Given the description of an element on the screen output the (x, y) to click on. 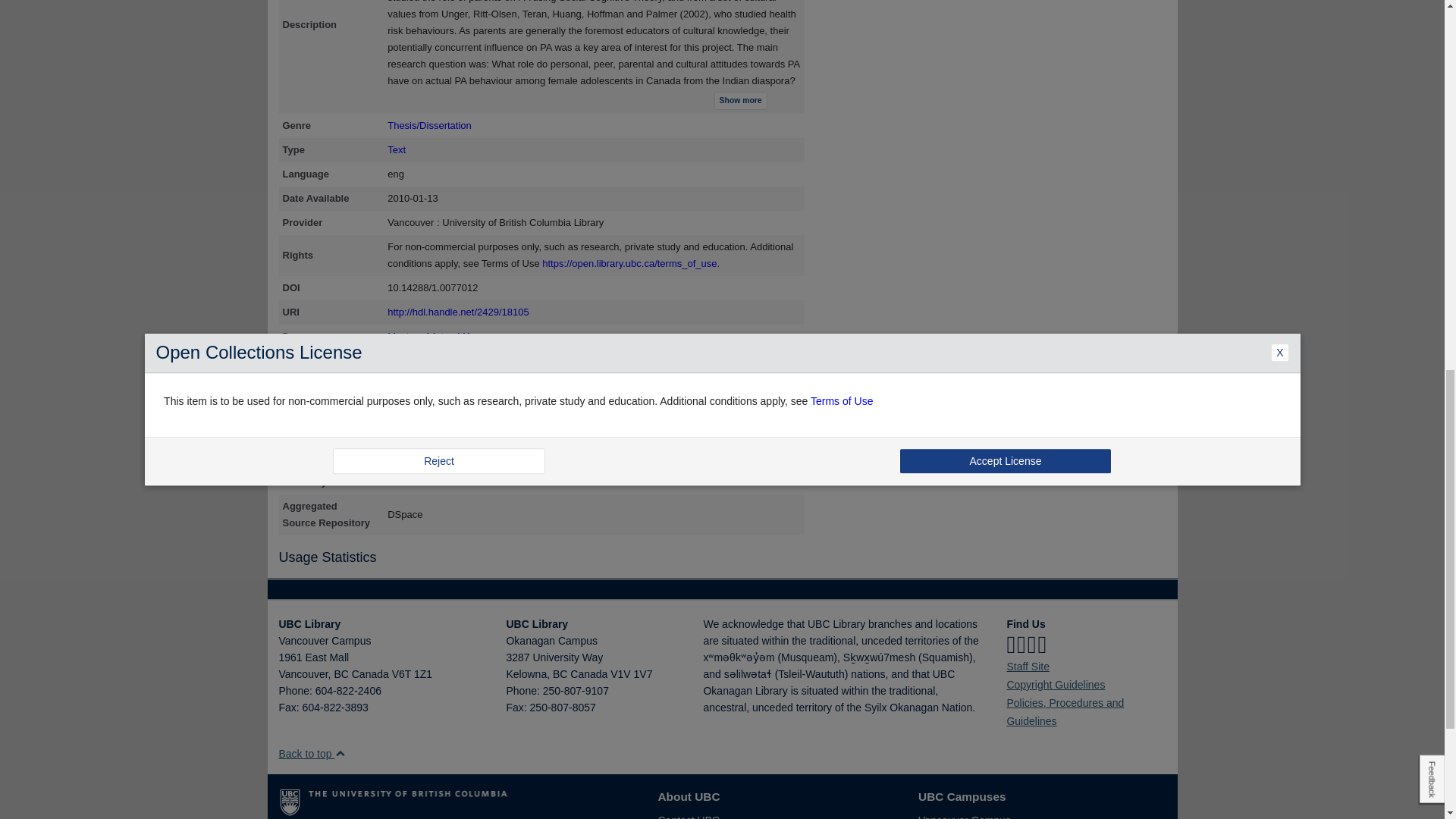
British Columbia (340, 674)
British Columbia (560, 674)
